Given the description of an element on the screen output the (x, y) to click on. 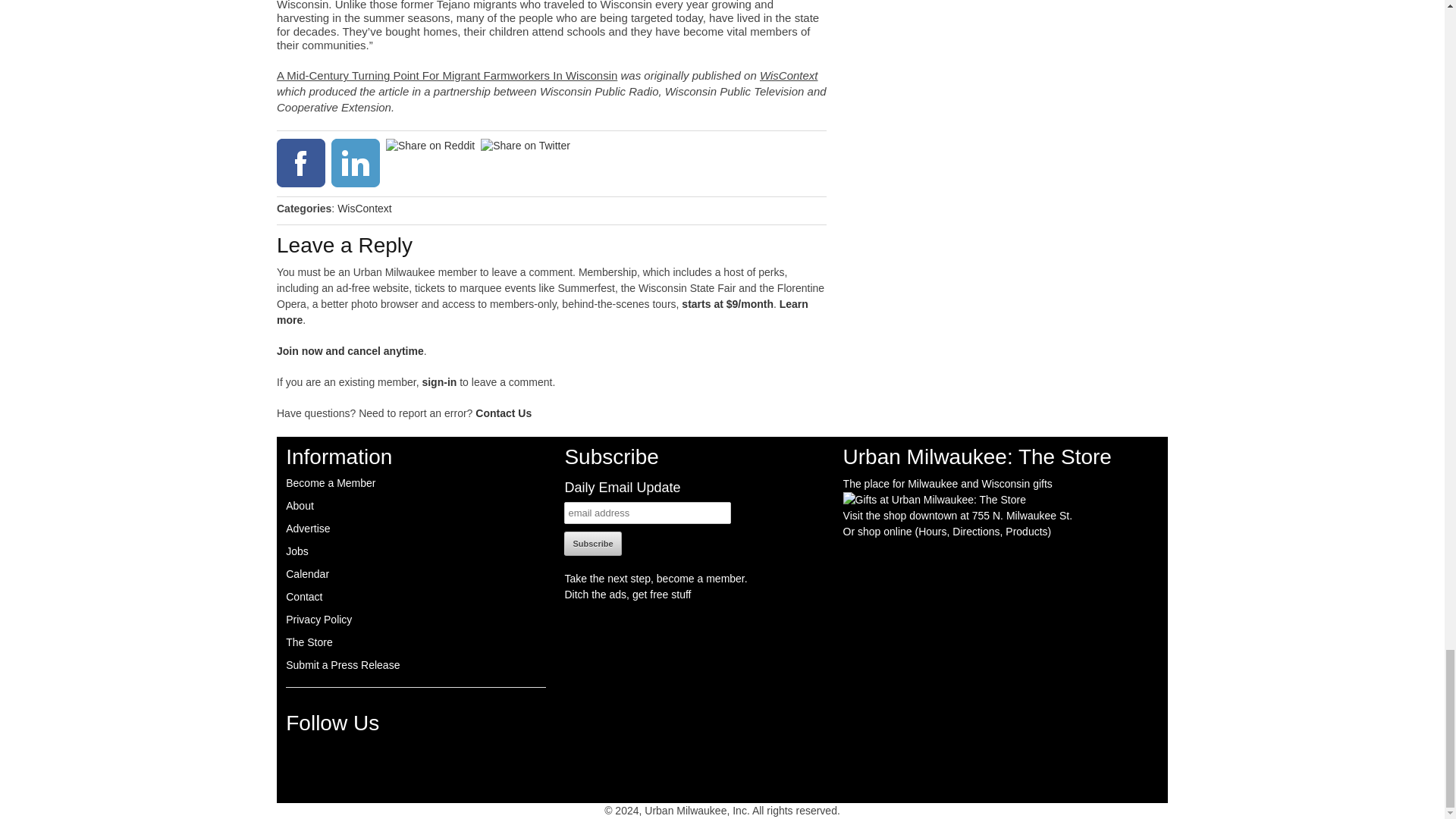
Subscribe (592, 543)
WisContext (364, 208)
